Given the description of an element on the screen output the (x, y) to click on. 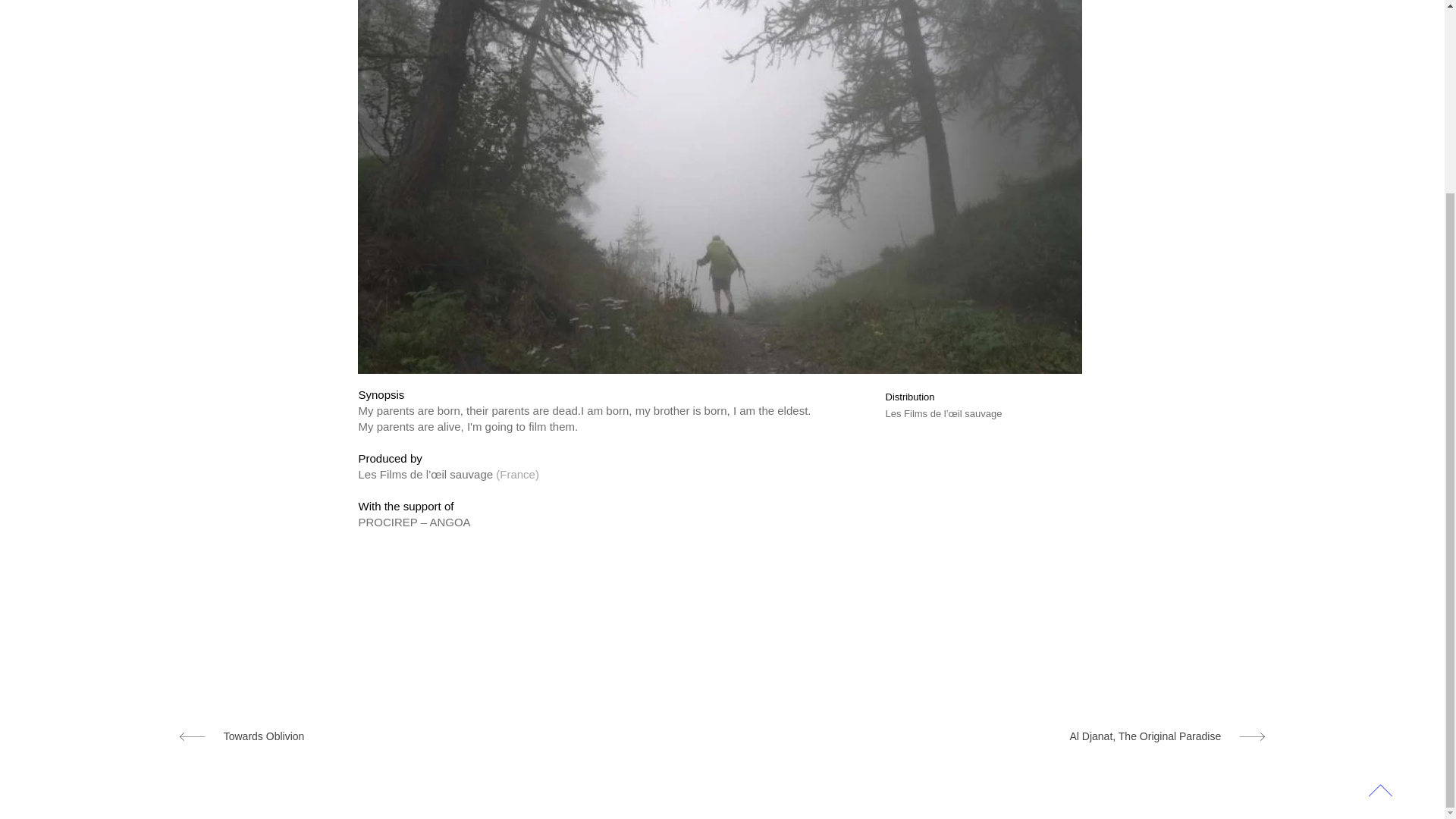
Towards Oblivion (362, 736)
Al Djanat, The Original Paradise (1082, 736)
